Given the description of an element on the screen output the (x, y) to click on. 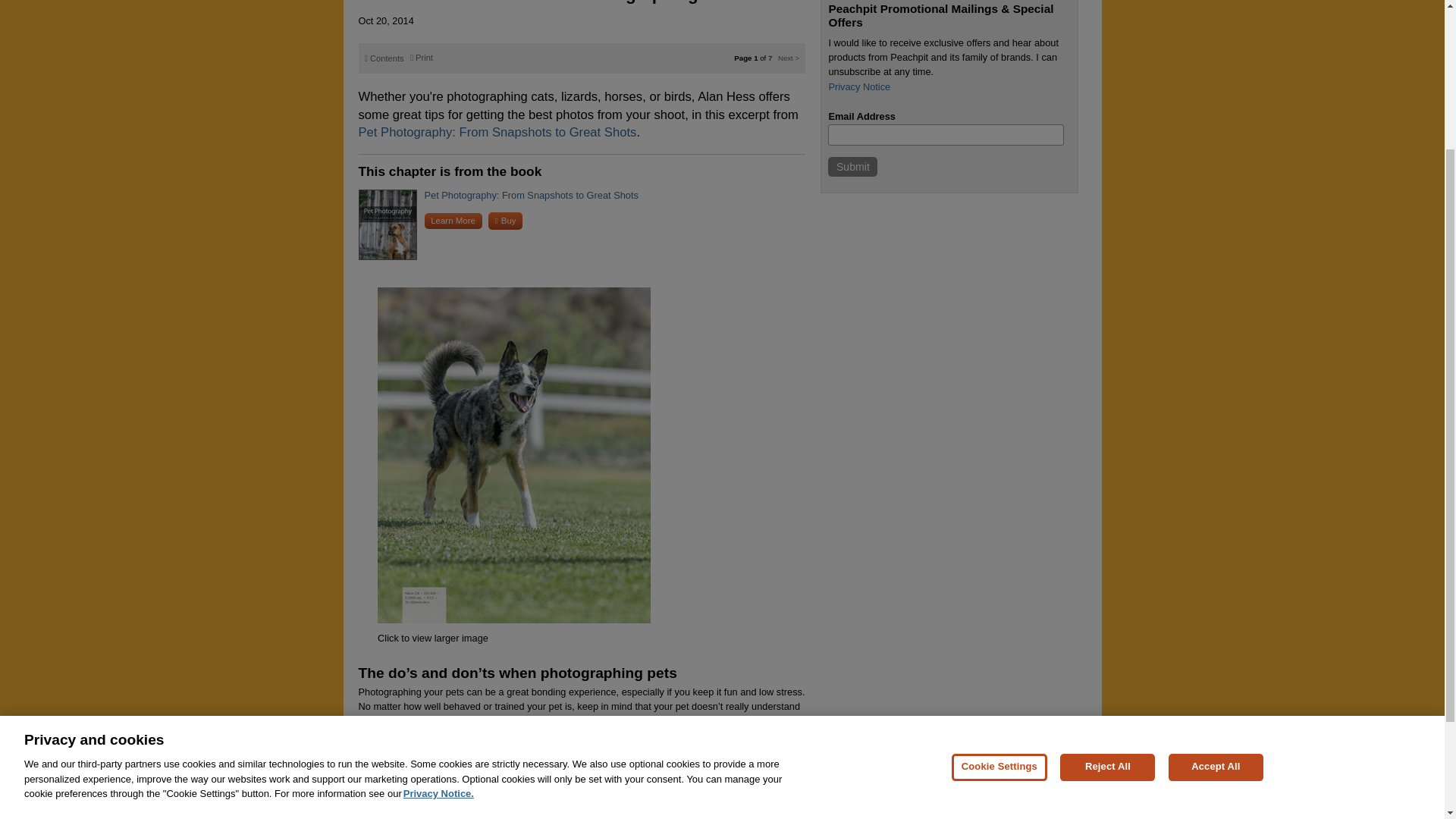
Pet Photography: From Snapshots to Great Shots (532, 194)
Pet Photography: From Snapshots to Great Shots (497, 132)
Submit (852, 166)
Print (421, 57)
Privacy Notice (858, 86)
Learn More (453, 220)
Submit (852, 166)
Click to view larger image (432, 637)
